Given the description of an element on the screen output the (x, y) to click on. 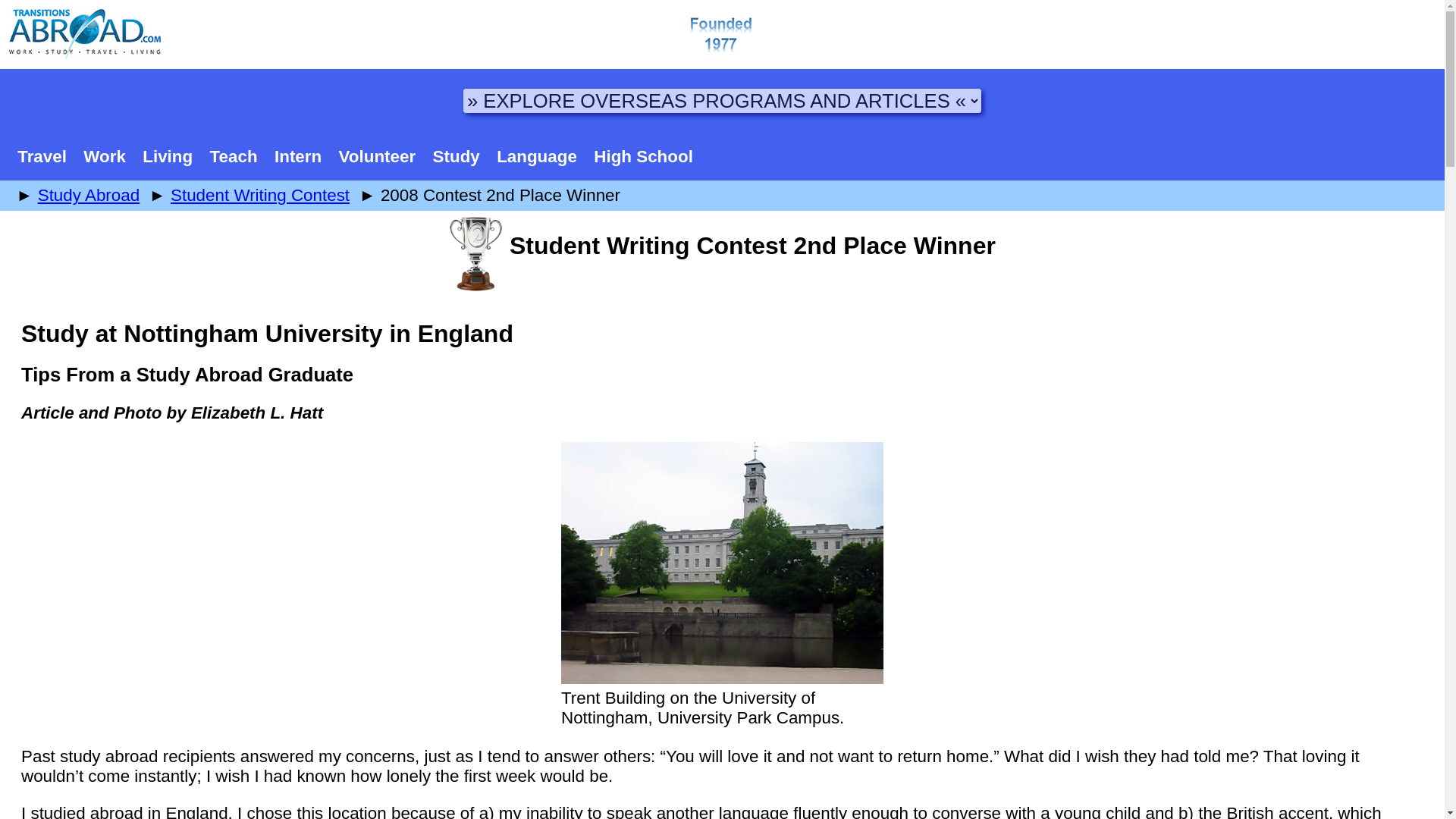
Travel (41, 156)
Student Writing Contest (259, 194)
Intern (298, 156)
Travel Abroad (41, 156)
Volunteer Abroad (376, 156)
Living Abroad (166, 156)
High School Programs and Teen Travel Abroad (643, 156)
Language (536, 156)
Living (166, 156)
Study (455, 156)
